Given the description of an element on the screen output the (x, y) to click on. 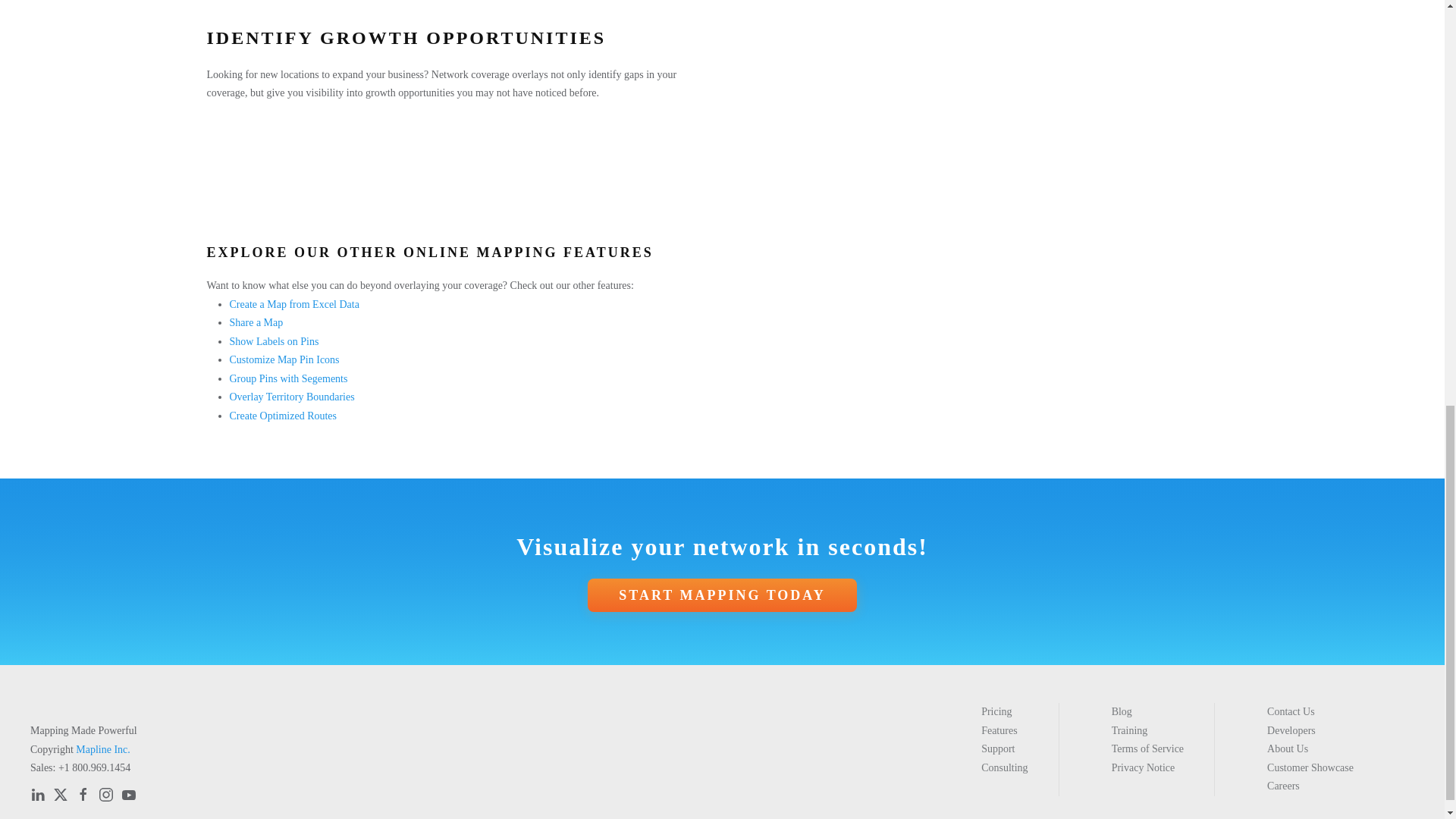
Show Labels on Pins (273, 341)
Share a Map (255, 322)
Group Pins with Segements (287, 378)
Customize Map Pin Icons (283, 359)
Create a Map from Excel Data (293, 304)
